Given the description of an element on the screen output the (x, y) to click on. 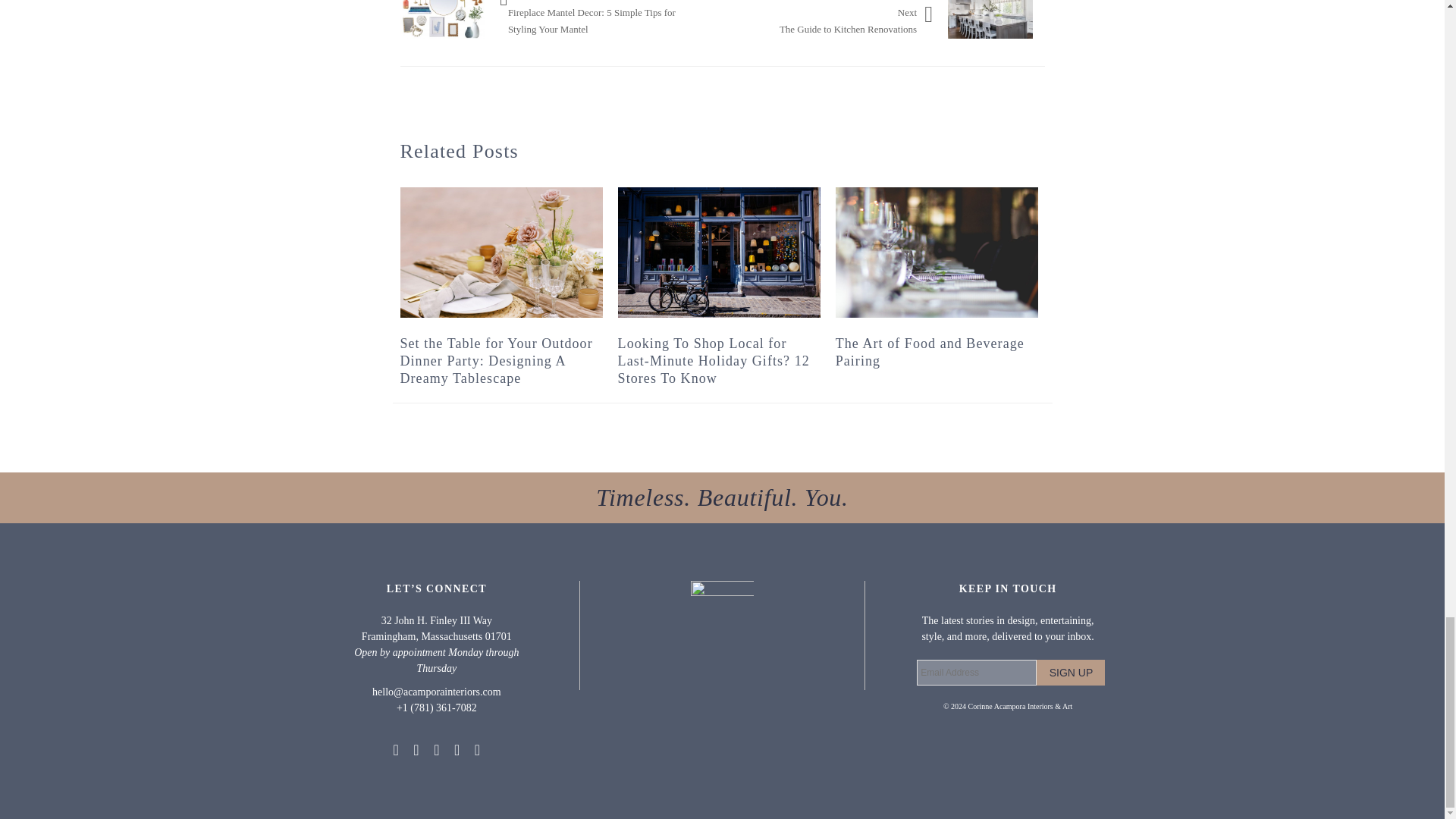
The Art of Food and Beverage Pairing (930, 351)
The Art of Food and Beverage Pairing (936, 252)
Sign Up (1070, 672)
